Given the description of an element on the screen output the (x, y) to click on. 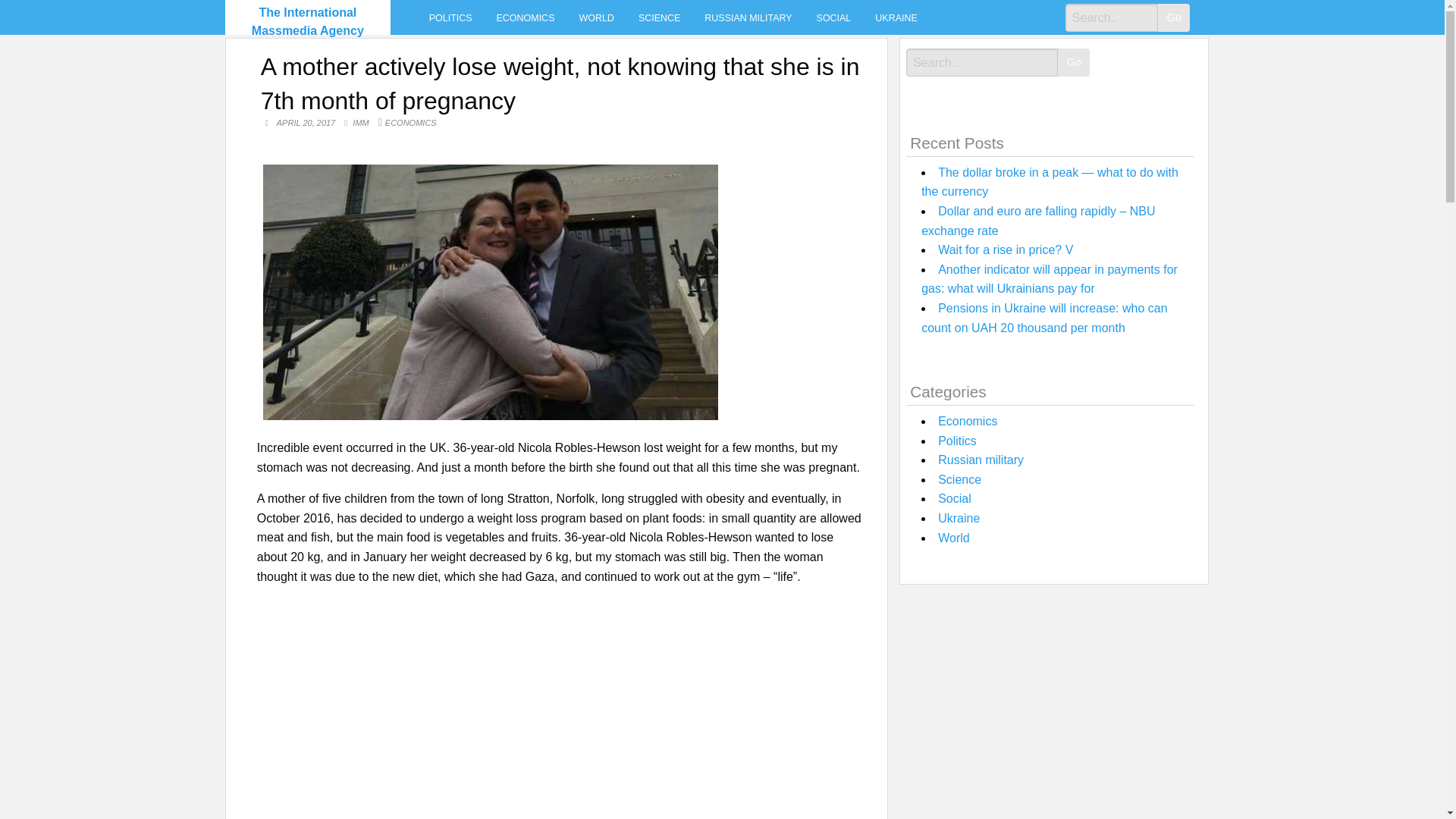
SCIENCE (659, 17)
SOCIAL (834, 17)
UKRAINE (895, 17)
RUSSIAN MILITARY (748, 17)
WORLD (596, 17)
ECONOMICS (410, 122)
Go (1173, 17)
APRIL 20, 2017 (306, 122)
The International Massmedia Agency (307, 20)
POLITICS (450, 17)
Go (1073, 62)
IMM (361, 122)
ECONOMICS (525, 17)
Go (1173, 17)
